Given the description of an element on the screen output the (x, y) to click on. 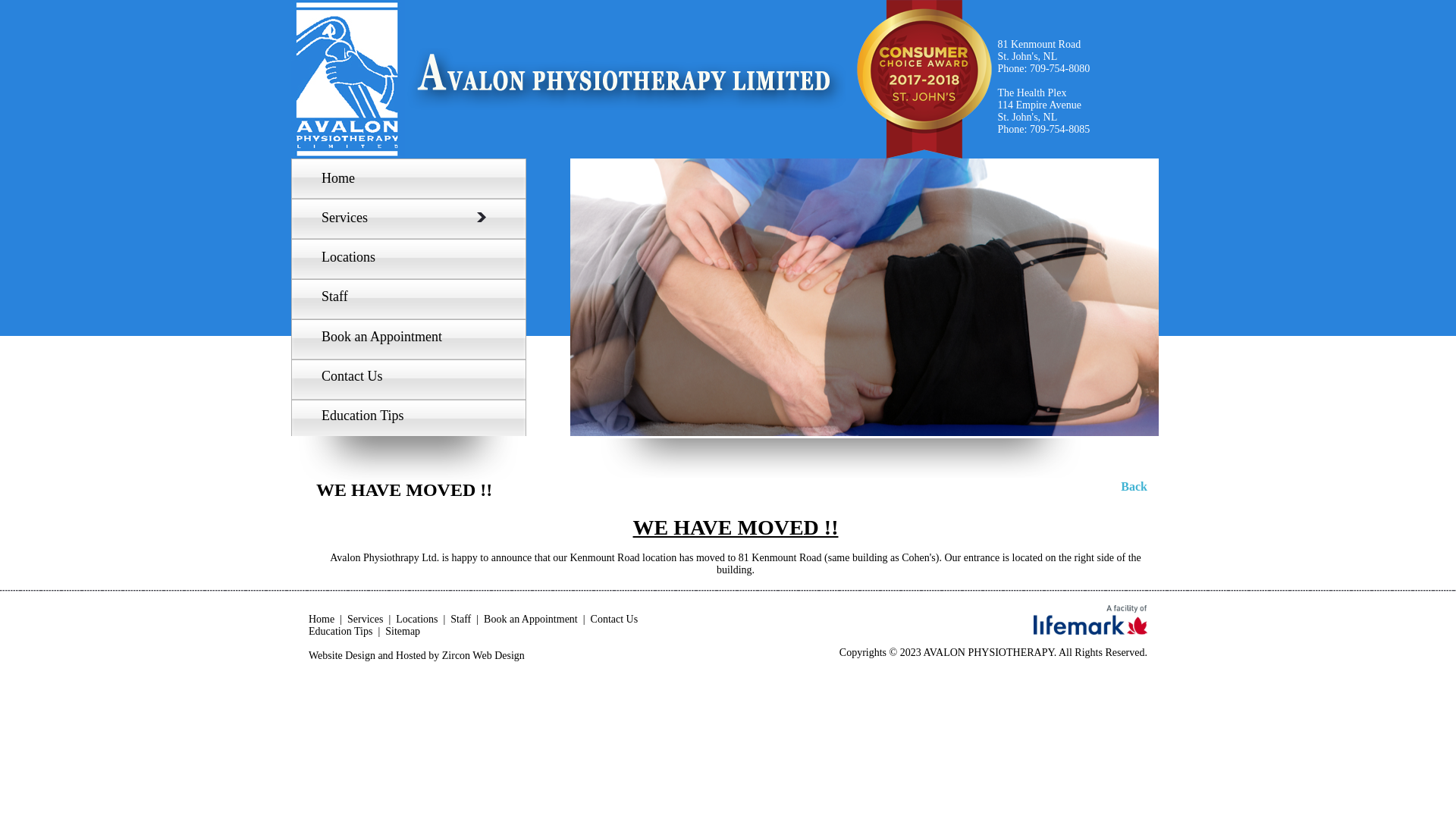
Staff Element type: text (460, 618)
Staff Element type: text (330, 296)
Book an Appointment Element type: text (377, 336)
Book an Appointment Element type: text (530, 618)
Home Element type: text (321, 618)
Back Element type: text (1133, 486)
Education Tips Element type: text (340, 631)
Sitemap Element type: text (402, 631)
Services Element type: text (364, 618)
Locations Element type: text (344, 257)
Services Element type: text (399, 217)
Locations Element type: text (416, 618)
Contact Us Element type: text (347, 376)
Website Design and Hosted by Zircon Web Design Element type: text (416, 655)
Home Element type: text (333, 178)
Contact Us Element type: text (614, 618)
Education Tips Element type: text (358, 415)
